Given the description of an element on the screen output the (x, y) to click on. 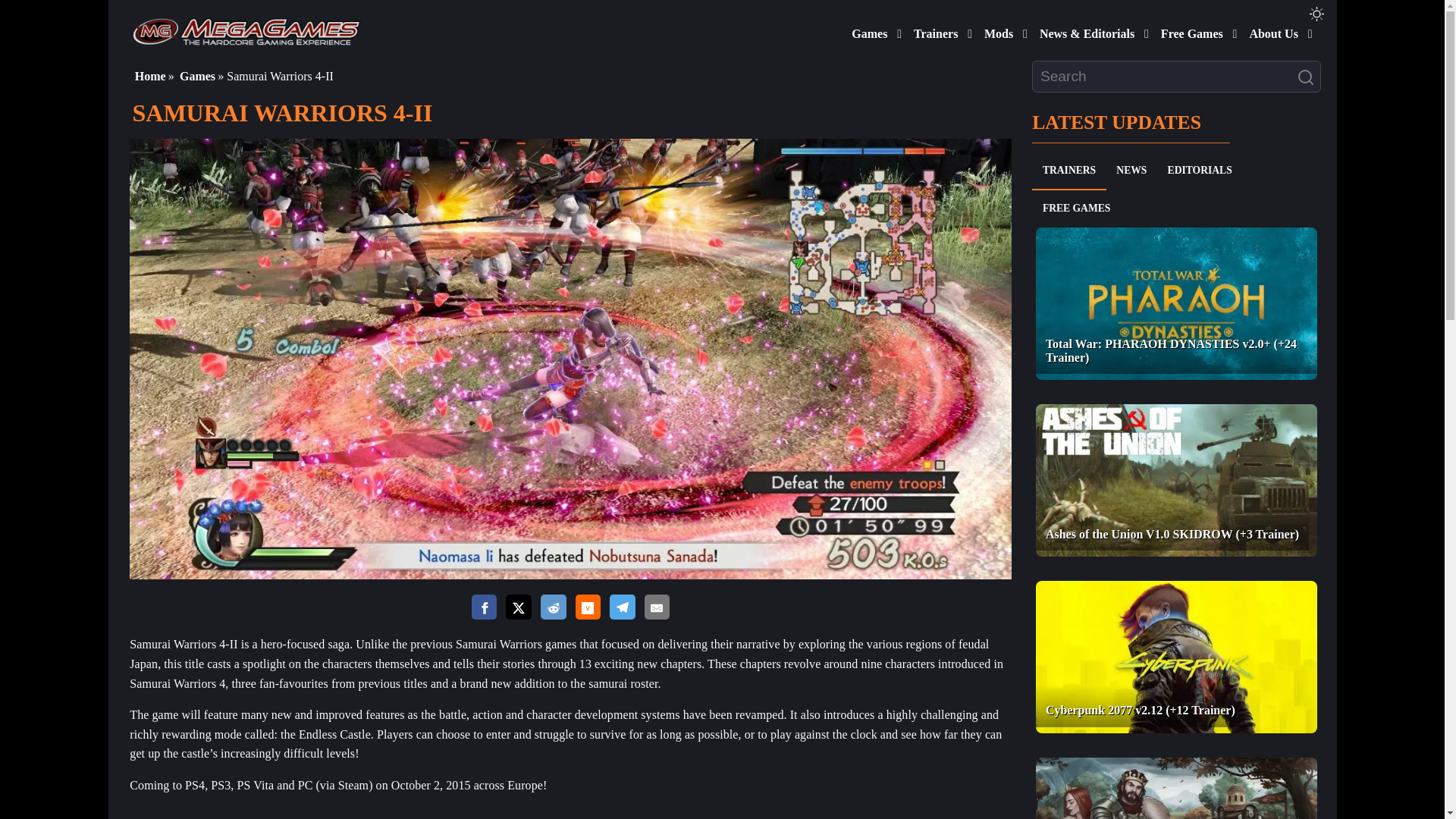
X (518, 607)
Reddit (553, 606)
Trainers (932, 31)
Hackernews (587, 606)
X (518, 606)
Facebook (484, 606)
Facebook Share (484, 607)
Hacker News Share (587, 607)
Telegram (622, 606)
